Given the description of an element on the screen output the (x, y) to click on. 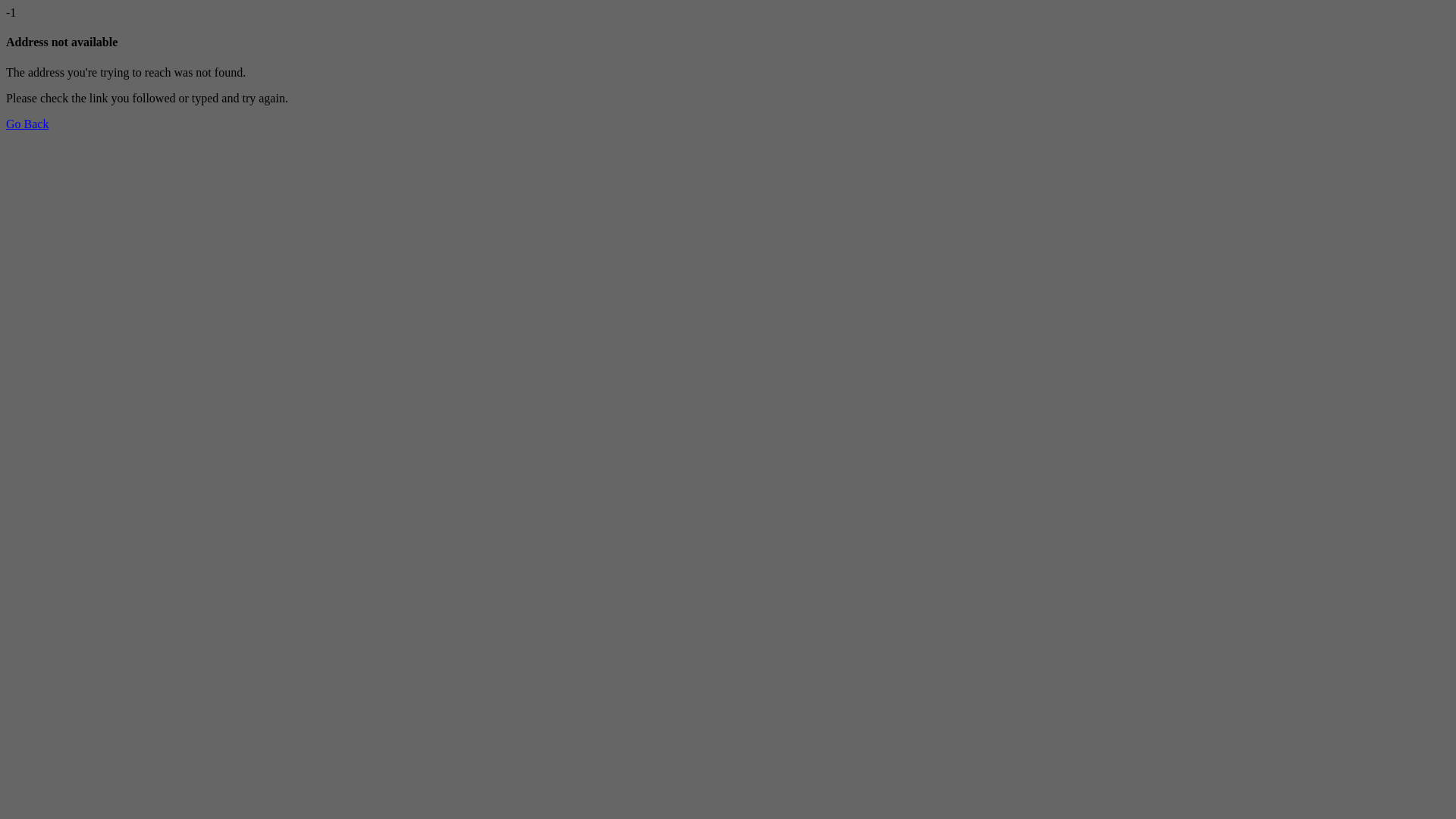
Go Back Element type: text (27, 123)
